Given the description of an element on the screen output the (x, y) to click on. 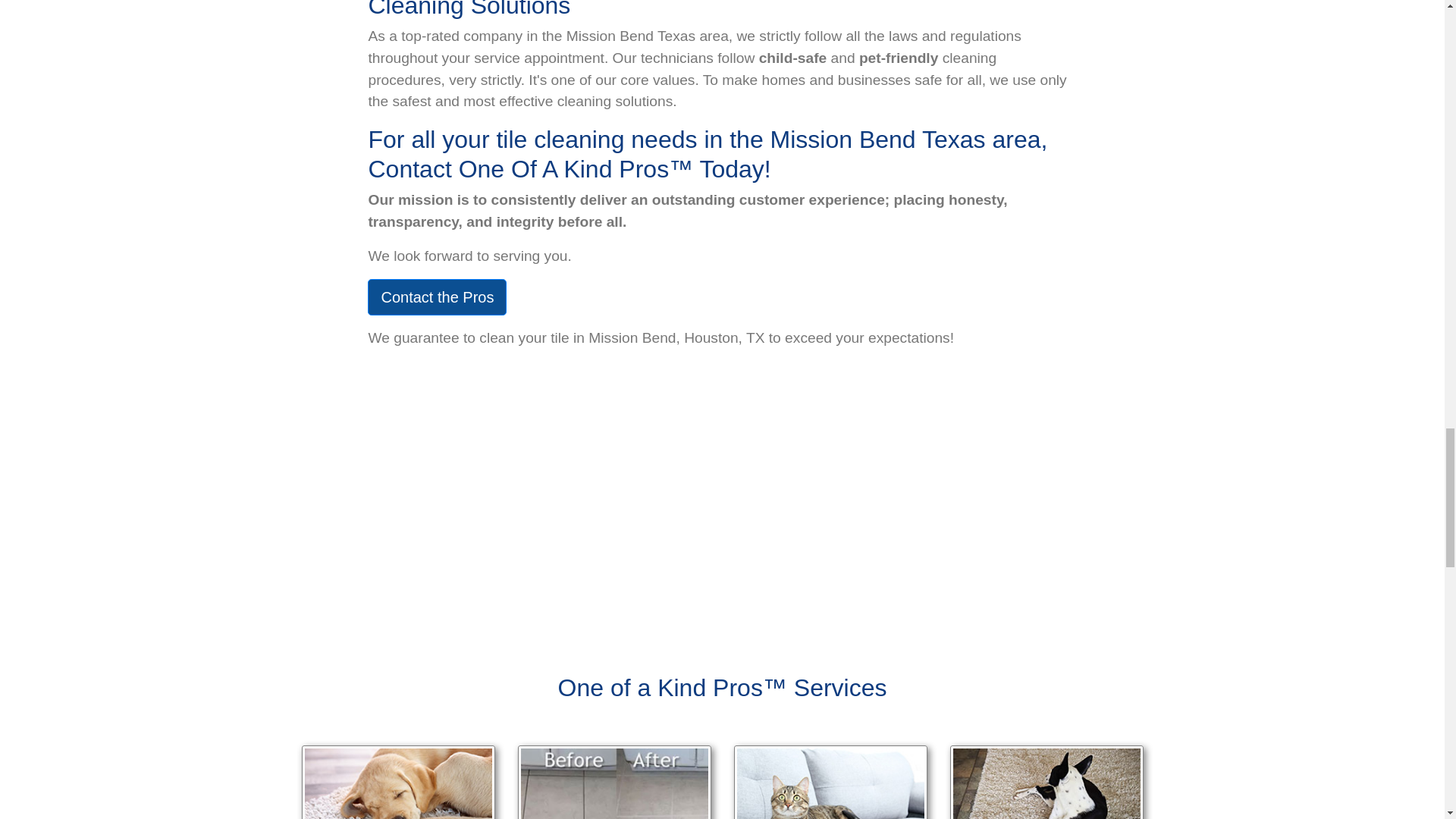
Contact the Pros (437, 297)
